Given the description of an element on the screen output the (x, y) to click on. 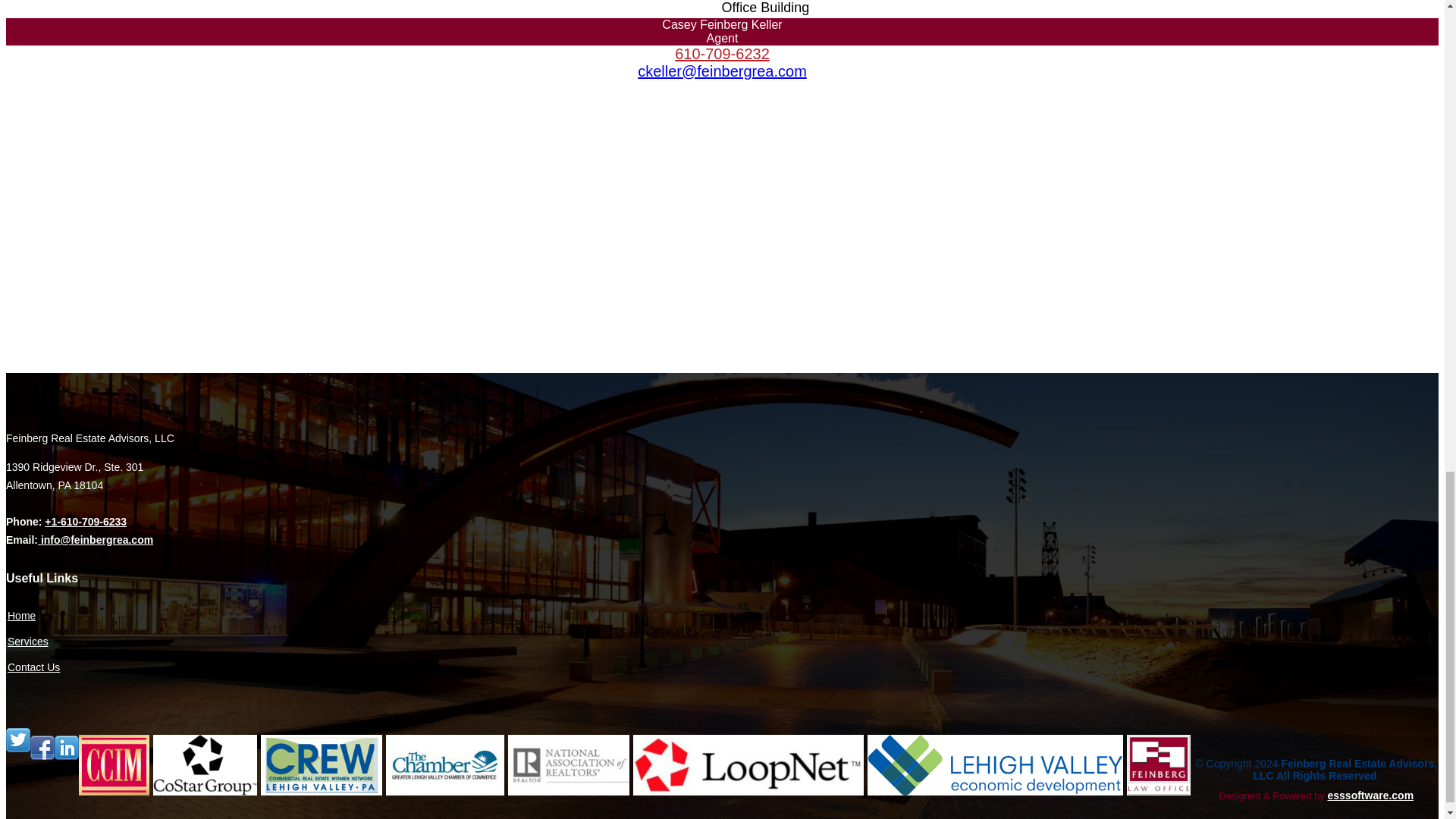
Contact Us (33, 666)
610-709-6232 (722, 53)
esssoftware.com (1369, 795)
Services (27, 641)
Home (20, 615)
